Given the description of an element on the screen output the (x, y) to click on. 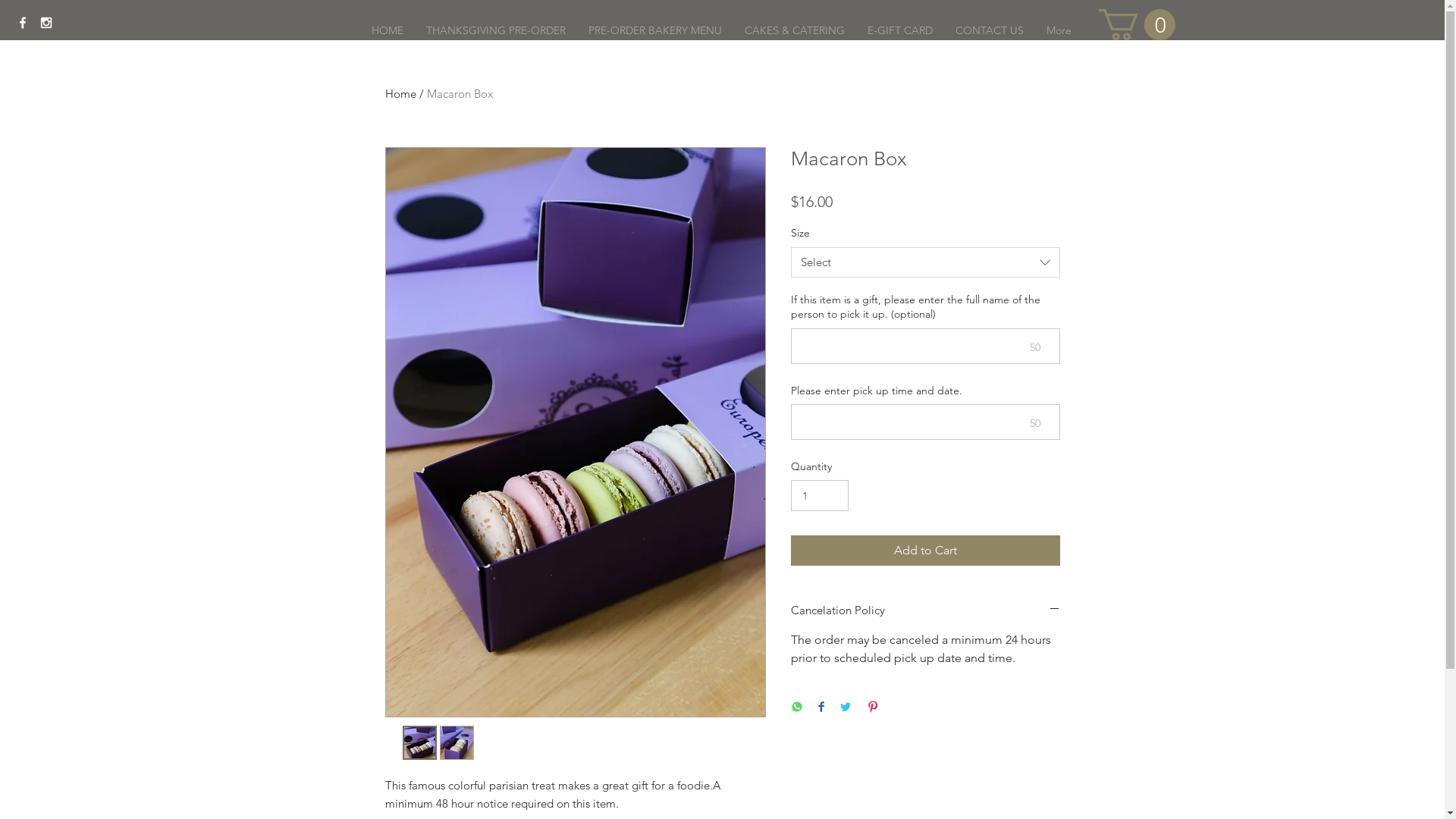
Macaron Box Element type: text (459, 93)
THANKSGIVING PRE-ORDER Element type: text (495, 30)
Add to Cart Element type: text (924, 550)
PRE-ORDER BAKERY MENU Element type: text (654, 30)
CONTACT US Element type: text (988, 30)
0 Element type: text (1136, 24)
Home Element type: text (400, 93)
Select Element type: text (924, 262)
CAKES & CATERING Element type: text (793, 30)
Cancelation Policy Element type: text (924, 610)
HOME Element type: text (386, 30)
E-GIFT CARD Element type: text (899, 30)
